Given the description of an element on the screen output the (x, y) to click on. 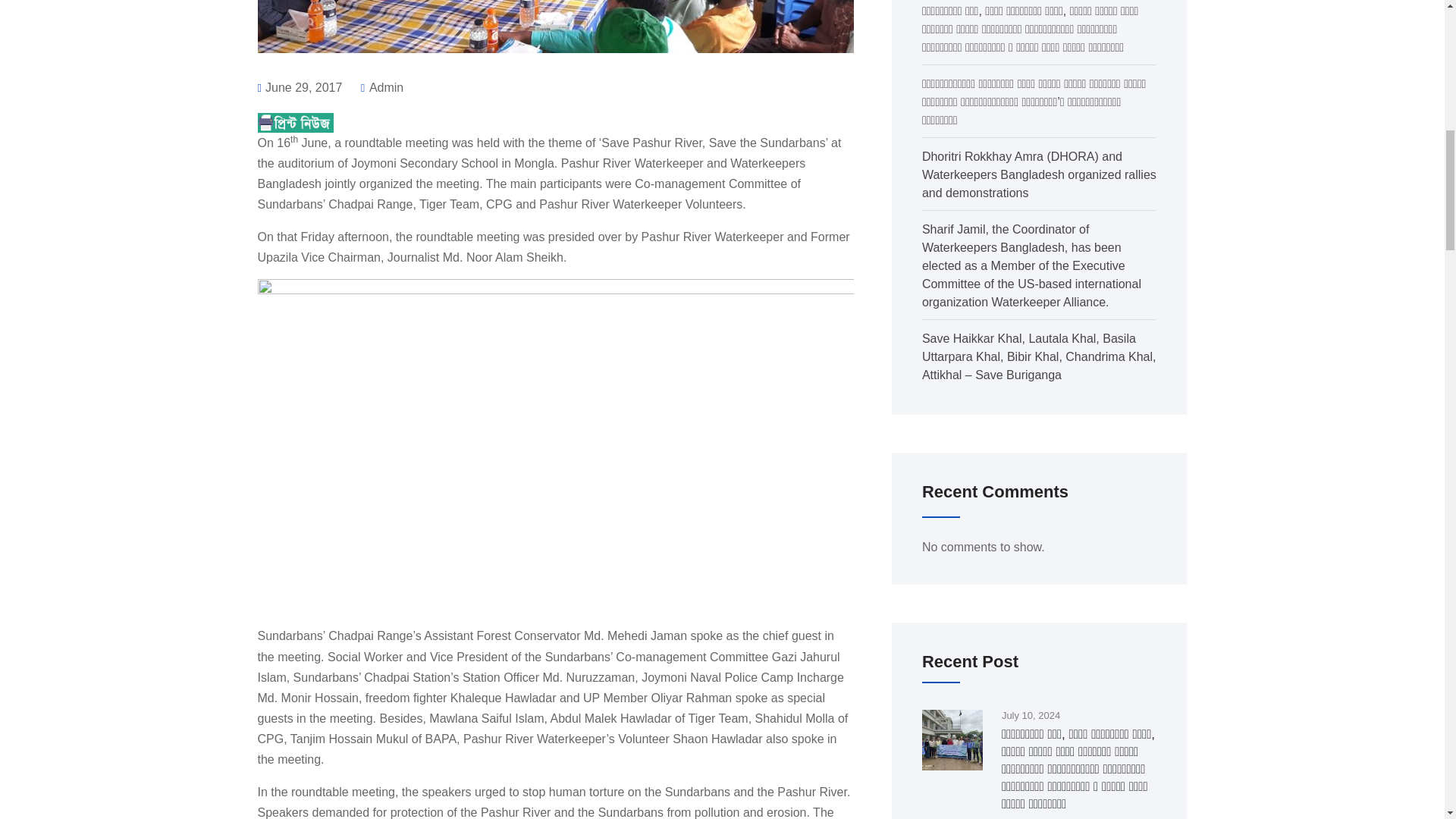
Admin (382, 87)
